Given the description of an element on the screen output the (x, y) to click on. 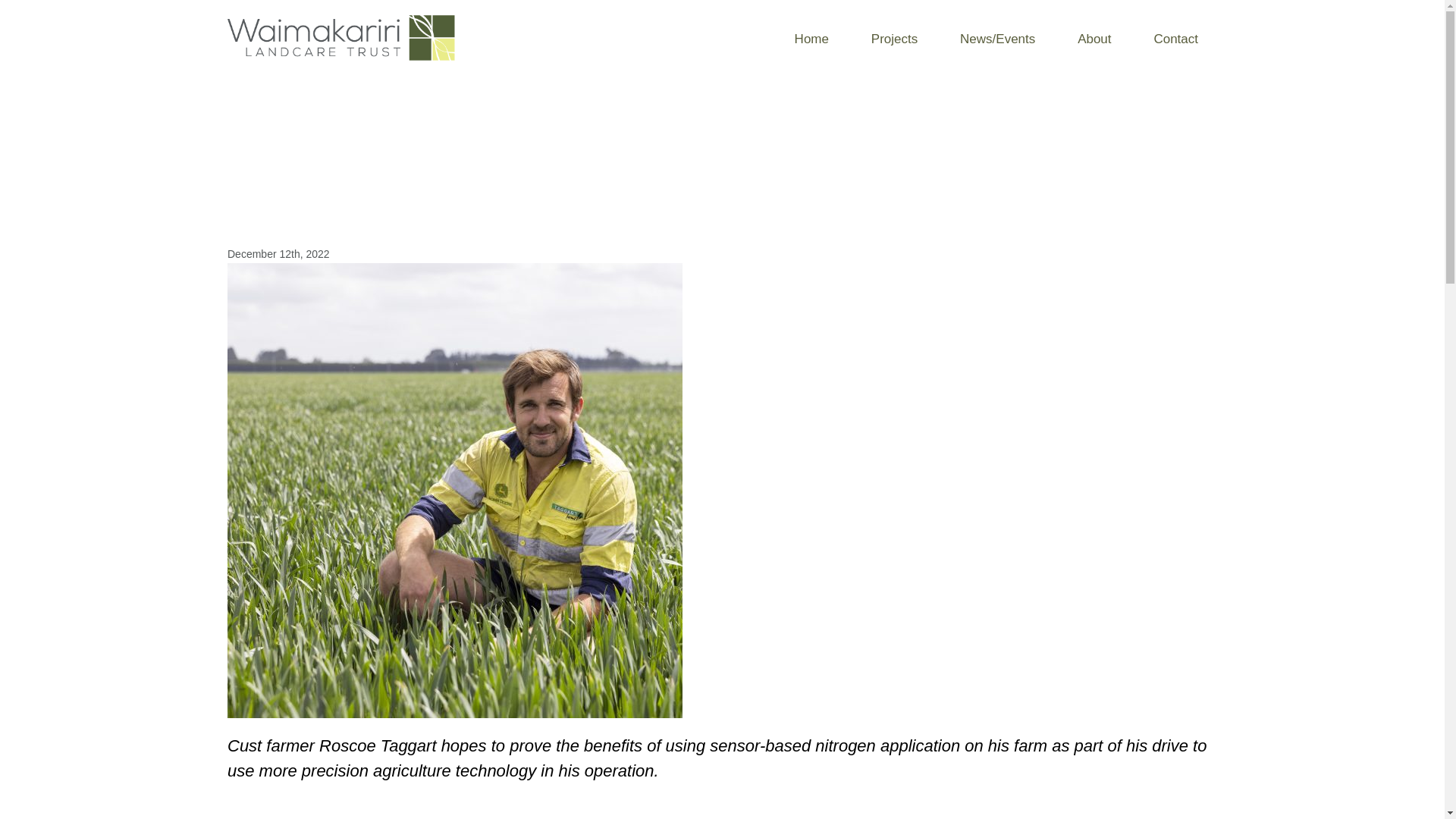
About (1093, 38)
Submit (615, 435)
Home (811, 38)
Contact (1175, 38)
Projects (893, 38)
